Given the description of an element on the screen output the (x, y) to click on. 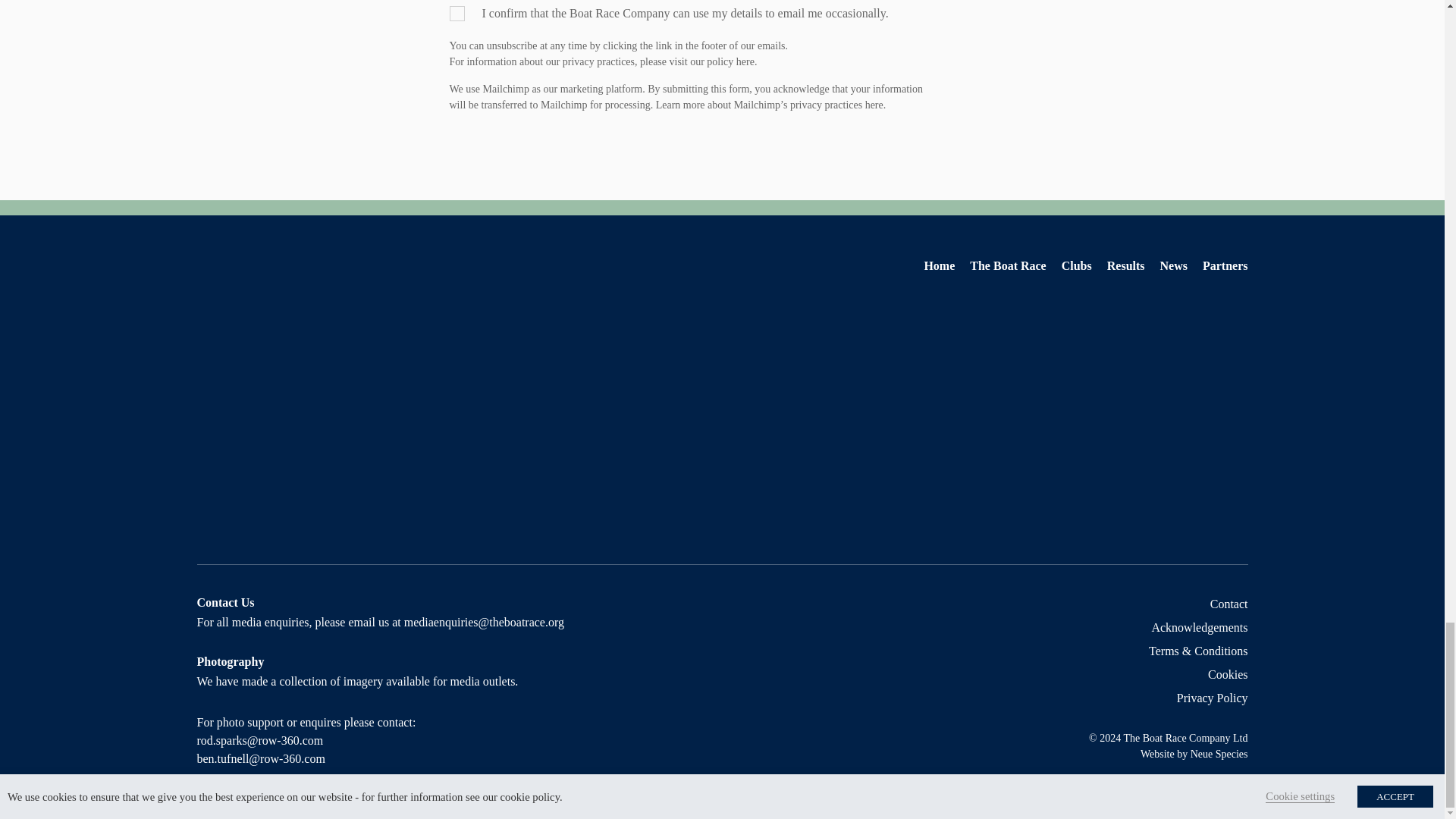
Y (456, 13)
